Given the description of an element on the screen output the (x, y) to click on. 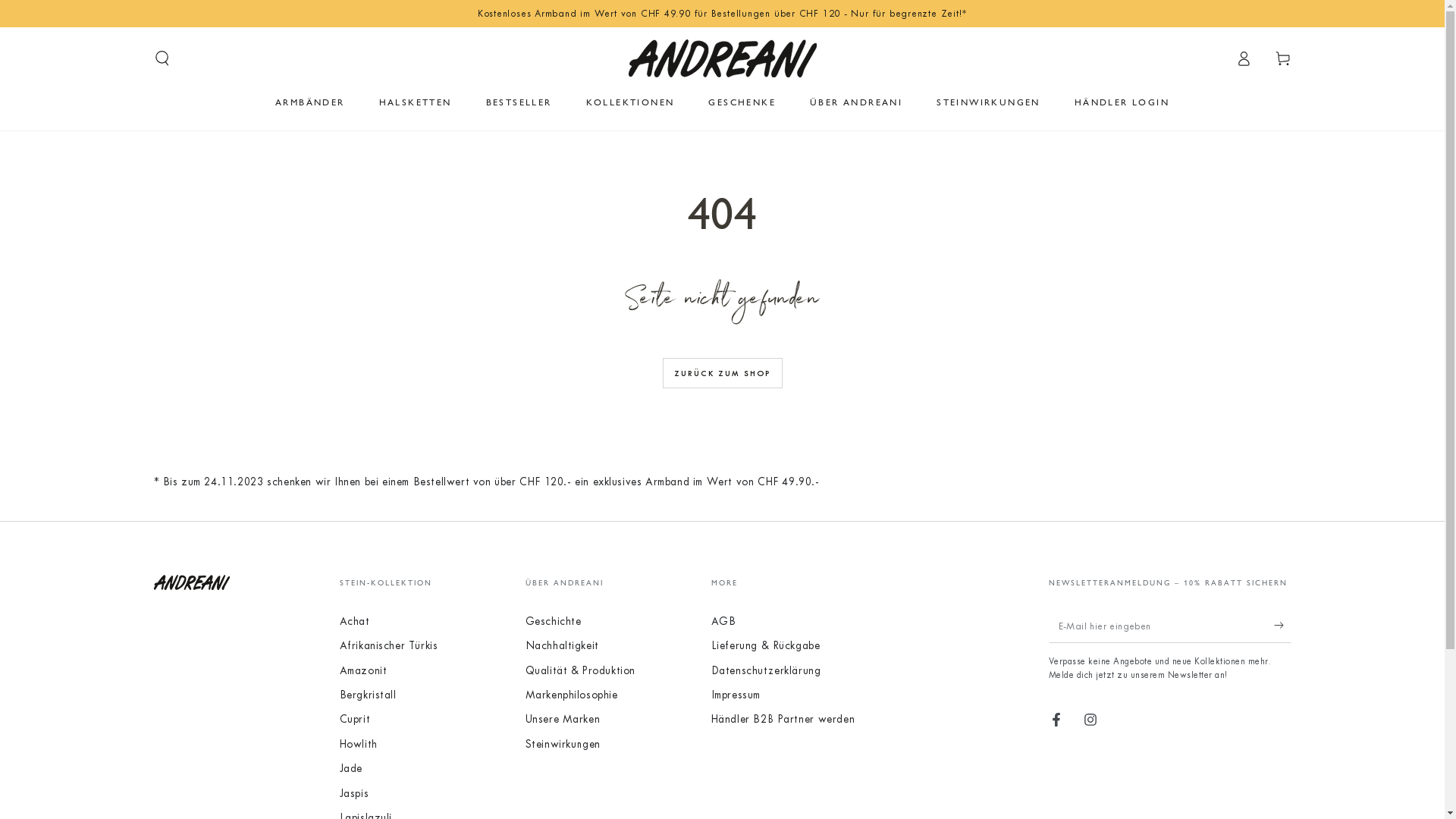
Bergkristall Element type: text (367, 694)
Einloggen Element type: text (1243, 58)
Achat Element type: text (354, 621)
Amazonit Element type: text (363, 670)
STEINWIRKUNGEN Element type: text (988, 101)
Howlith Element type: text (358, 743)
Steinwirkungen Element type: text (561, 743)
Markenphilosophie Element type: text (570, 694)
Unsere Marken Element type: text (561, 718)
Impressum Element type: text (735, 694)
AGB Element type: text (723, 621)
Facebook Element type: text (1056, 719)
BESTSELLER Element type: text (518, 101)
Instagram Element type: text (1090, 719)
GESCHENKE Element type: text (741, 101)
HALSKETTEN Element type: text (415, 101)
Jaspis Element type: text (354, 793)
Jade Element type: text (350, 768)
Cuprit Element type: text (354, 718)
KOLLEKTIONEN Element type: text (630, 101)
Geschichte Element type: text (552, 621)
Nachhaltigkeit Element type: text (561, 645)
